Given the description of an element on the screen output the (x, y) to click on. 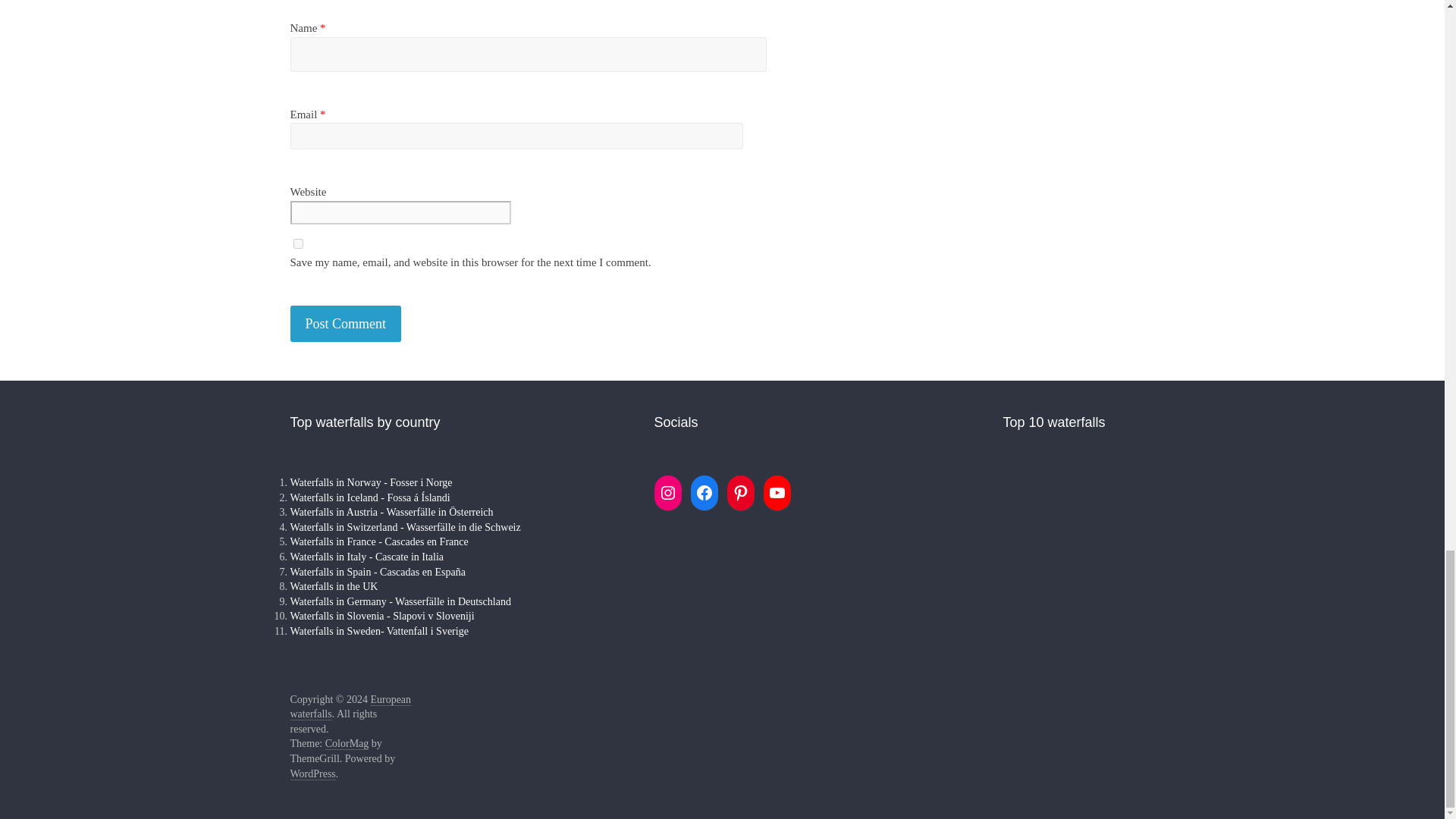
Post Comment (345, 324)
European waterfalls (349, 707)
ColorMag (346, 743)
WordPress (311, 774)
yes (297, 243)
